Given the description of an element on the screen output the (x, y) to click on. 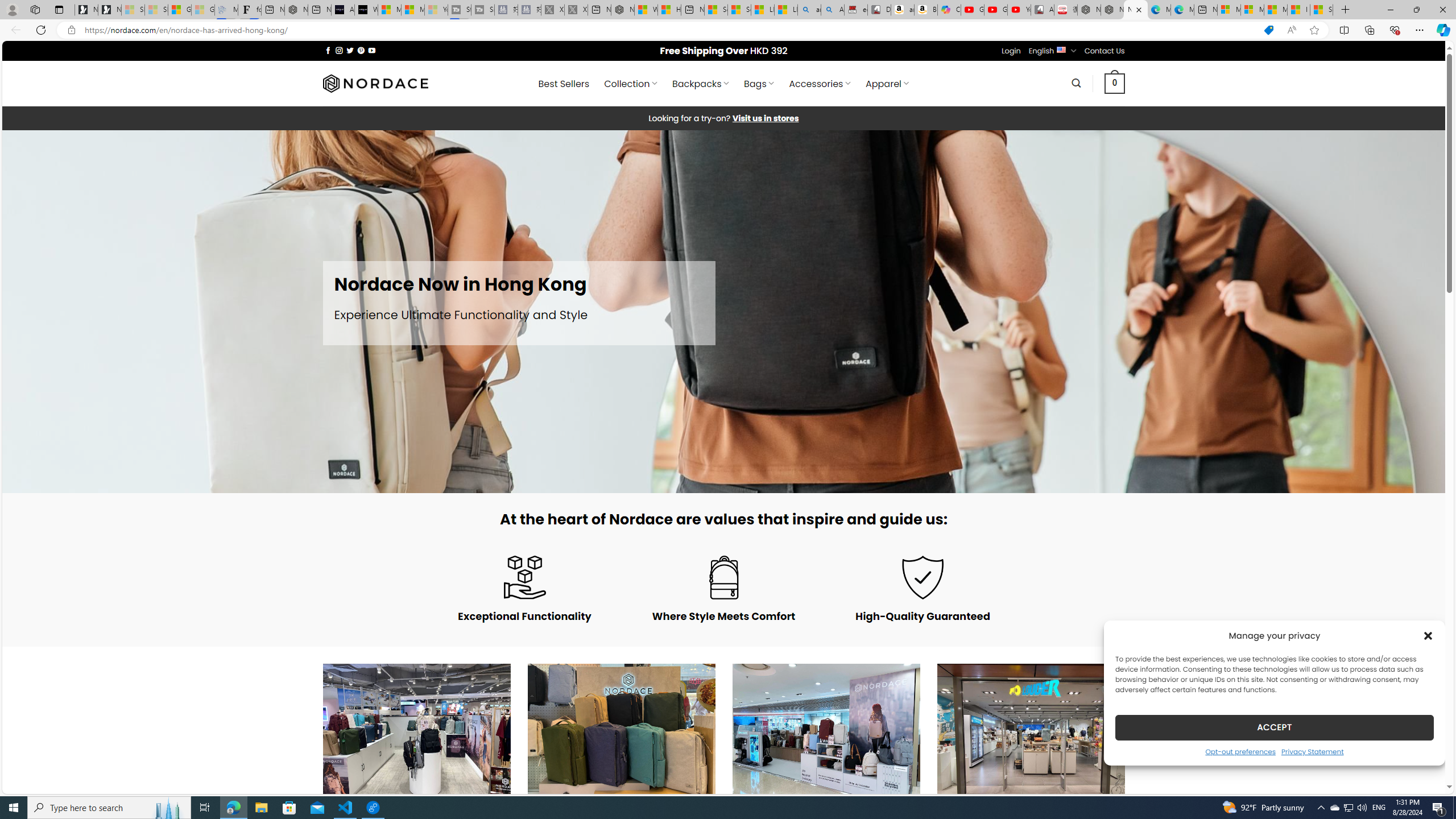
What's the best AI voice generator? - voice.ai (365, 9)
Login (1010, 50)
ACCEPT (1274, 727)
Microsoft Start Sports (389, 9)
